Given the description of an element on the screen output the (x, y) to click on. 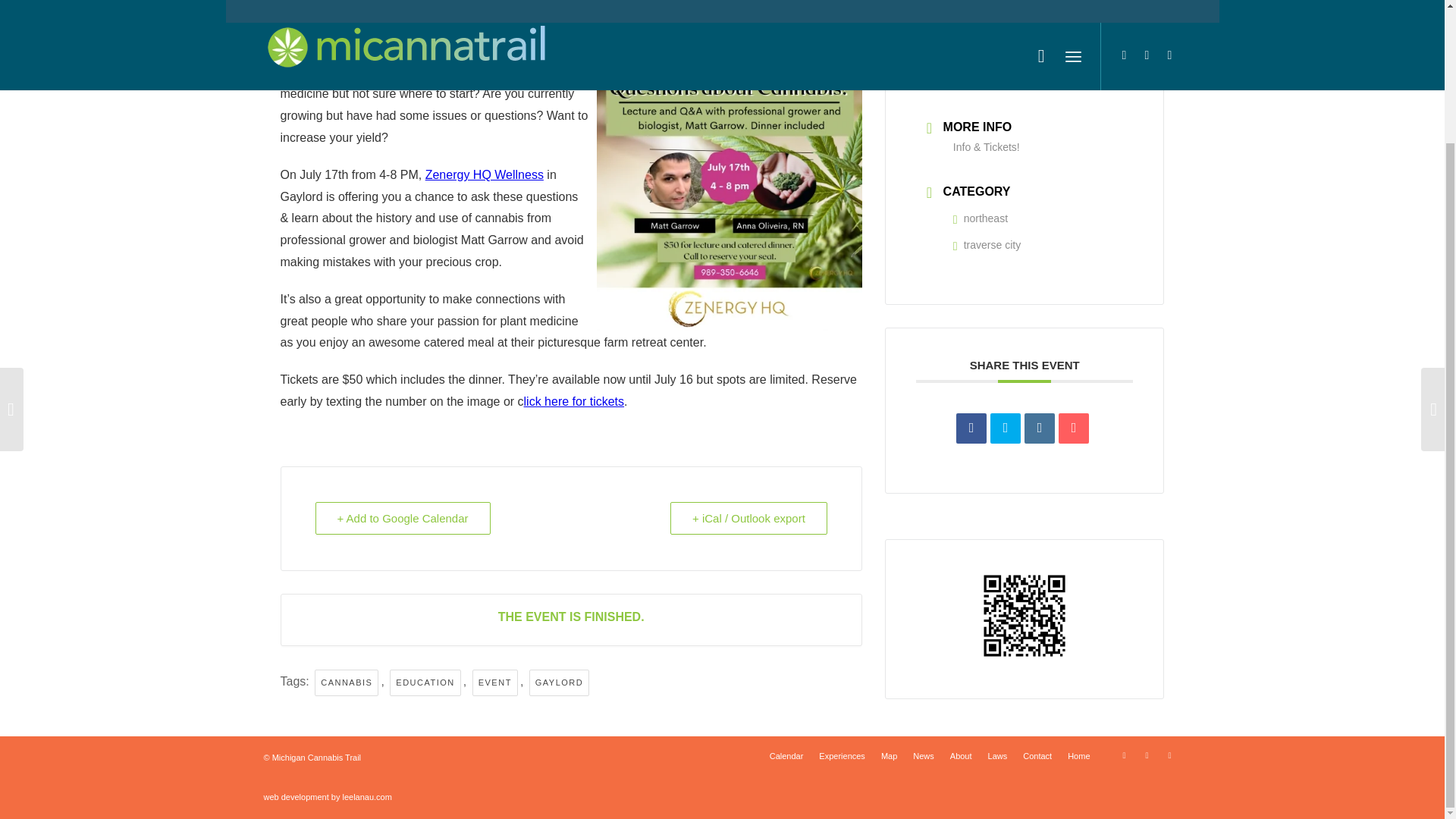
Email (1073, 428)
Linkedin (1039, 428)
northeast (980, 218)
Share on Facebook (971, 428)
Instagram (1169, 754)
Tweet (1005, 428)
EVENT (494, 682)
Facebook (1146, 754)
Zenergy HQ Wellness (484, 174)
CANNABIS (346, 682)
